Given the description of an element on the screen output the (x, y) to click on. 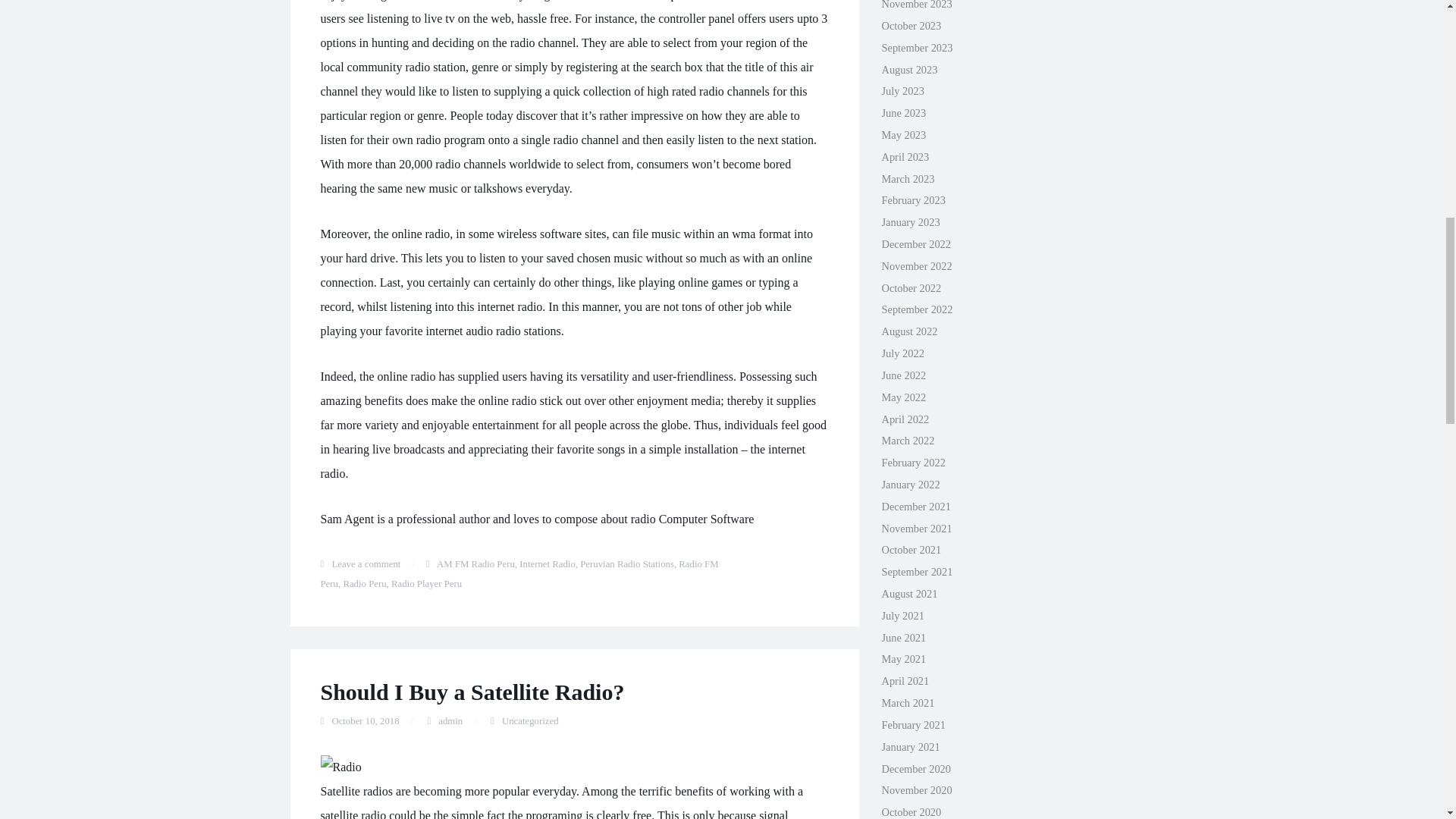
Should I Buy a Satellite Radio? (472, 691)
Radio FM Peru (518, 573)
Radio Peru (363, 583)
Uncategorized (530, 720)
Internet Radio (547, 563)
Peruvian Radio Stations (626, 563)
admin (450, 720)
Radio Player Peru (426, 583)
October 10, 2018 (364, 720)
AM FM Radio Peru (475, 563)
